Given the description of an element on the screen output the (x, y) to click on. 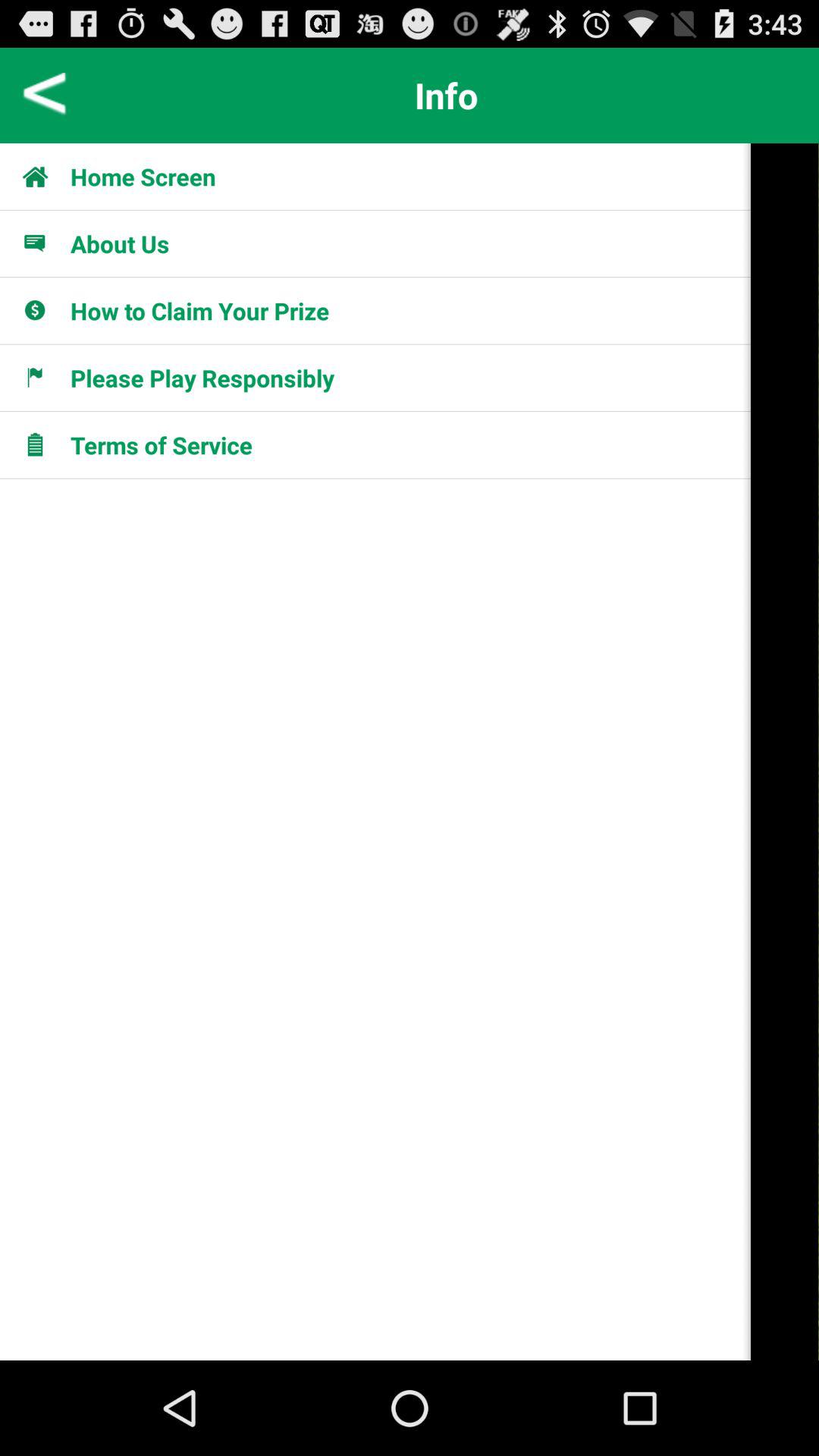
turn off the icon next to please play responsibly app (784, 751)
